Given the description of an element on the screen output the (x, y) to click on. 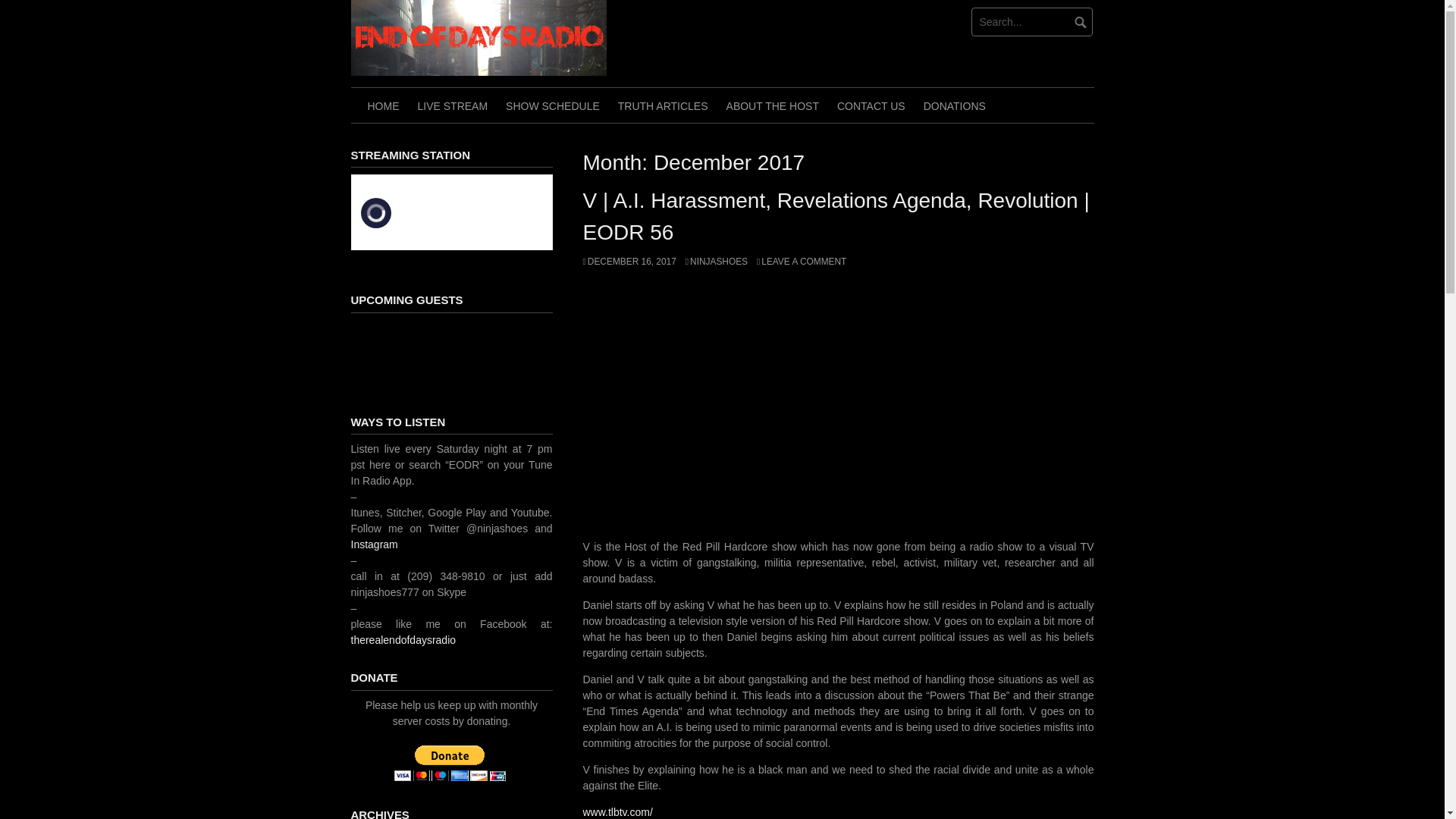
therealendofdaysradio (402, 639)
LIVE STREAM (451, 104)
DONATIONS (954, 104)
NINJASHOES (716, 261)
CONTACT US (871, 104)
Search for: (1031, 21)
HOME (382, 104)
SHOW SCHEDULE (552, 104)
ABOUT THE HOST (772, 104)
